Given the description of an element on the screen output the (x, y) to click on. 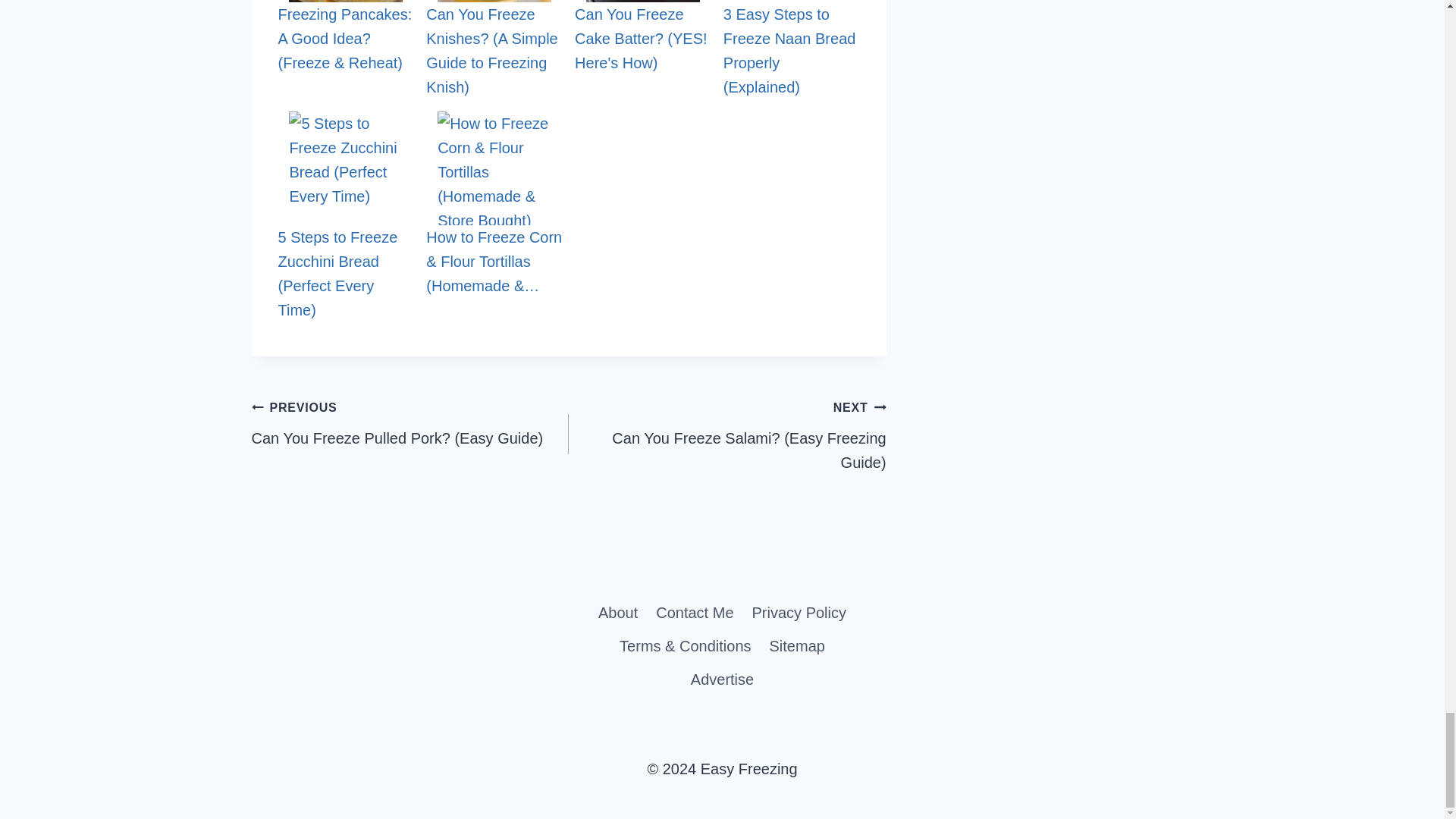
Advertise (721, 679)
About (617, 612)
Sitemap (797, 645)
Contact Me (694, 612)
Privacy Policy (799, 612)
